Given the description of an element on the screen output the (x, y) to click on. 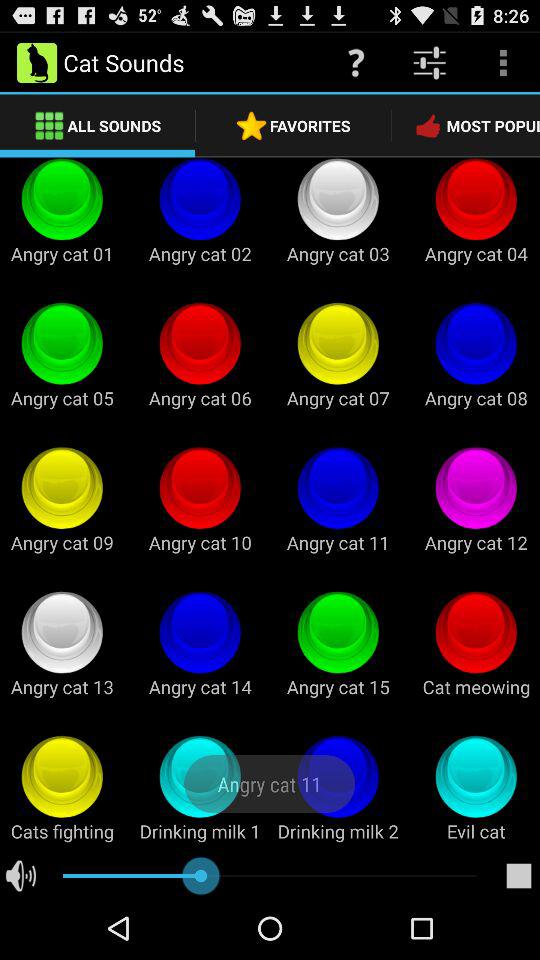
turn on the icon below the evil cat app (518, 875)
